Given the description of an element on the screen output the (x, y) to click on. 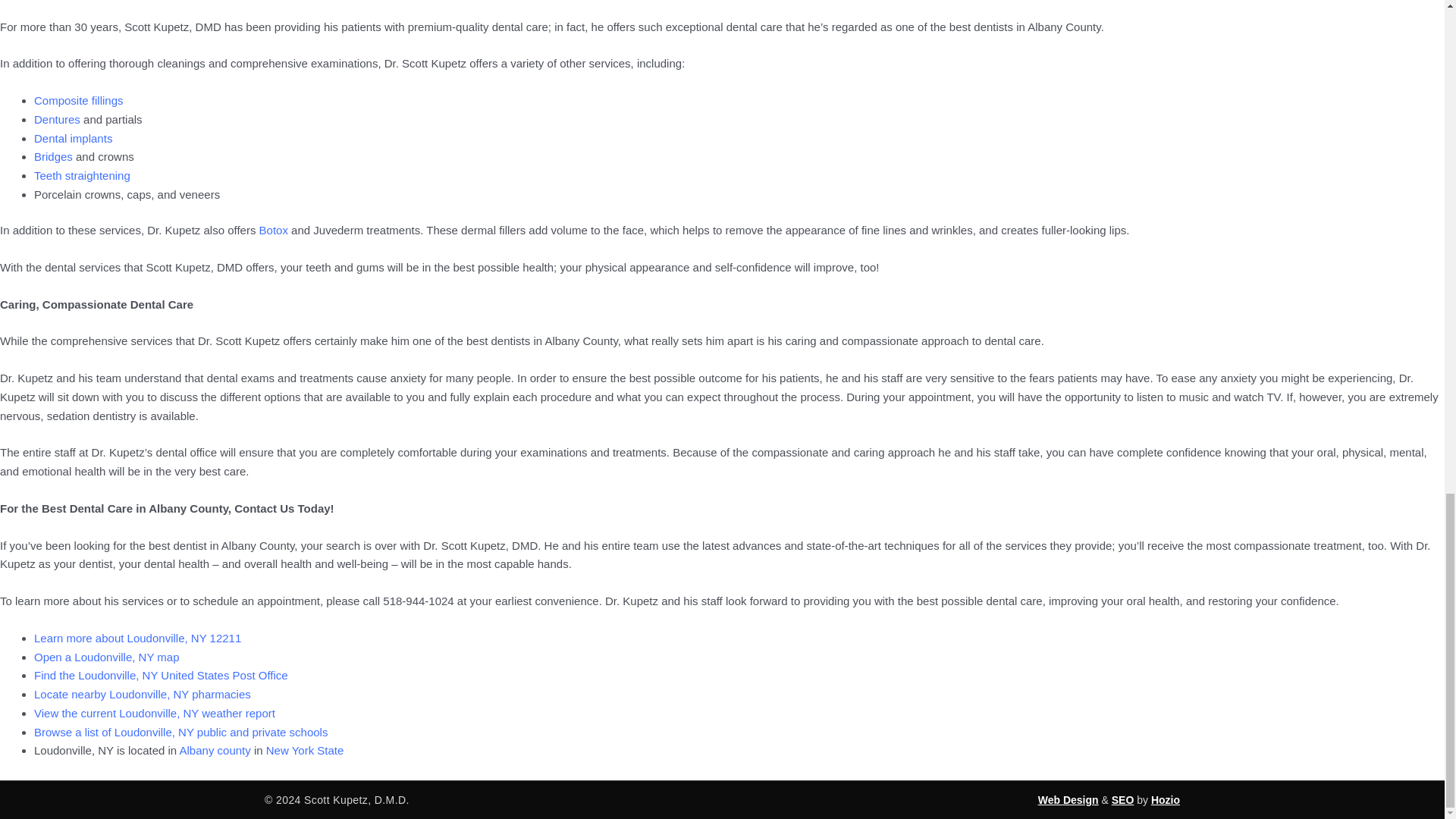
Dentures (56, 119)
Teeth Straightening (82, 174)
Dental Implants (72, 137)
Composite Fillings (78, 100)
Botox and Juverderm (273, 229)
